Given the description of an element on the screen output the (x, y) to click on. 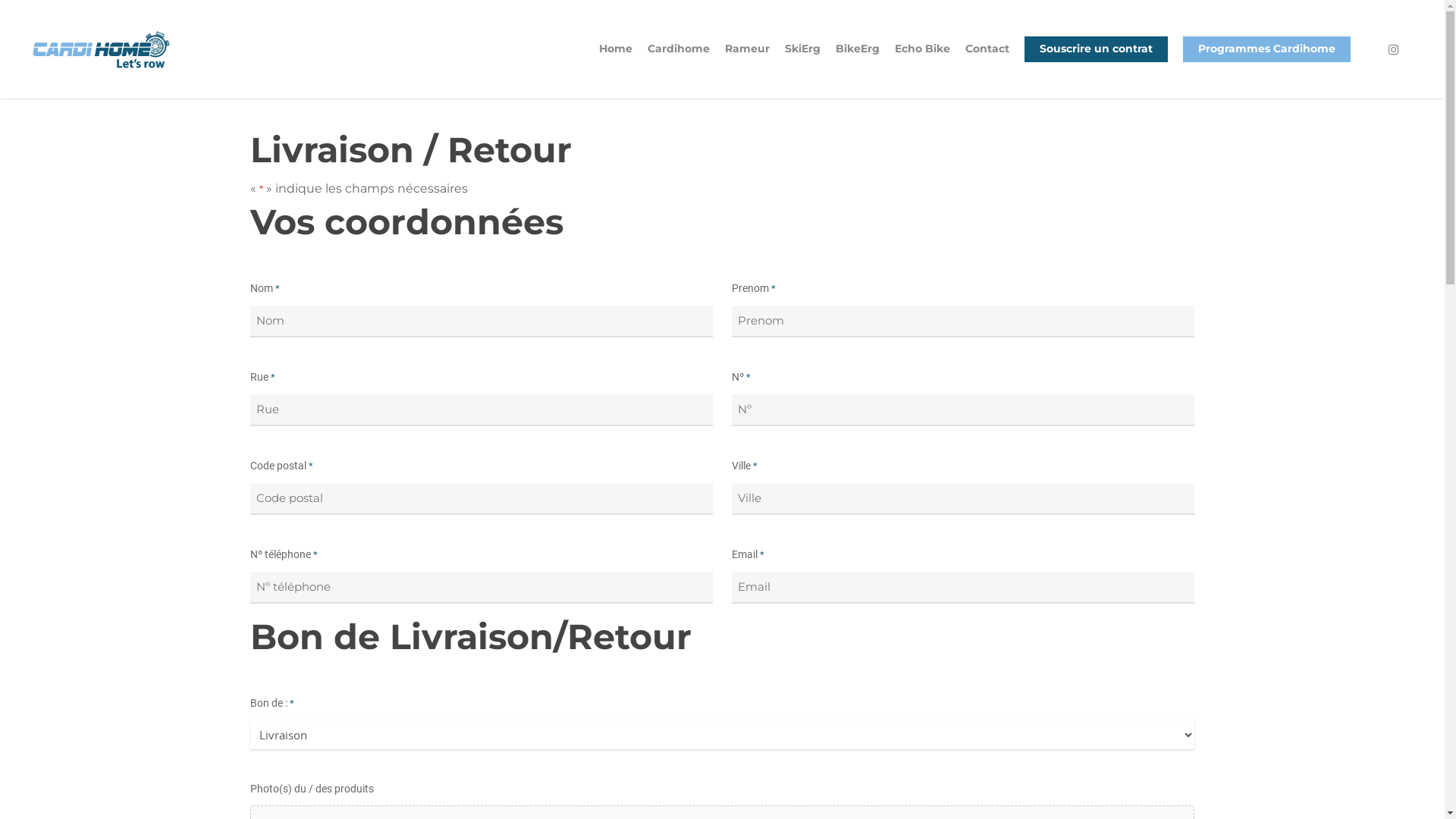
BikeErg Element type: text (857, 59)
Souscrire un contrat Element type: text (1095, 59)
BikeErg Element type: text (691, 667)
Souscrire un contrat Element type: text (691, 740)
Contact Element type: text (987, 59)
SkiErg Element type: text (802, 59)
Echo Bike Element type: text (922, 59)
Home Element type: text (615, 59)
Echo Bike Element type: text (691, 692)
Cardihome Element type: text (678, 59)
Politique de Cookie Element type: text (1056, 604)
Rameur Element type: text (691, 619)
Programmes Cardihome Element type: text (691, 765)
Home Element type: text (691, 570)
Rameur Element type: text (746, 59)
Contact Element type: text (691, 716)
Programmes Cardihome Element type: text (1266, 59)
Cardihome Element type: text (691, 595)
SkiErg Element type: text (691, 643)
